Given the description of an element on the screen output the (x, y) to click on. 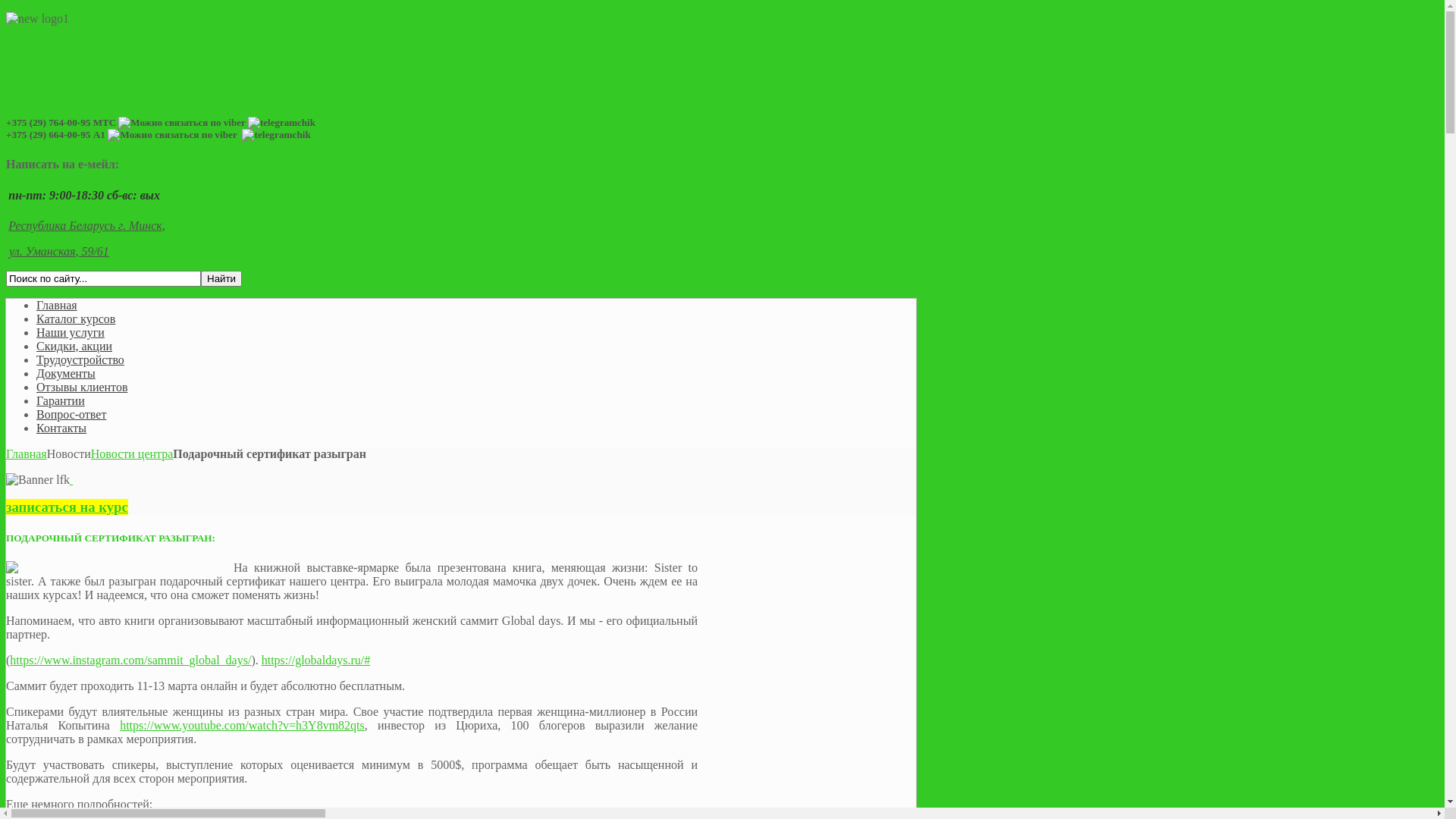
https://www.instagram.com/sammit_global_days/ Element type: text (130, 659)
info@novoezavtra.by Element type: text (180, 163)
https://globaldays.ru/# Element type: text (315, 659)
  Element type: text (70, 479)
https://www.youtube.com/watch?v=h3Y8vm82qts Element type: text (241, 724)
